Given the description of an element on the screen output the (x, y) to click on. 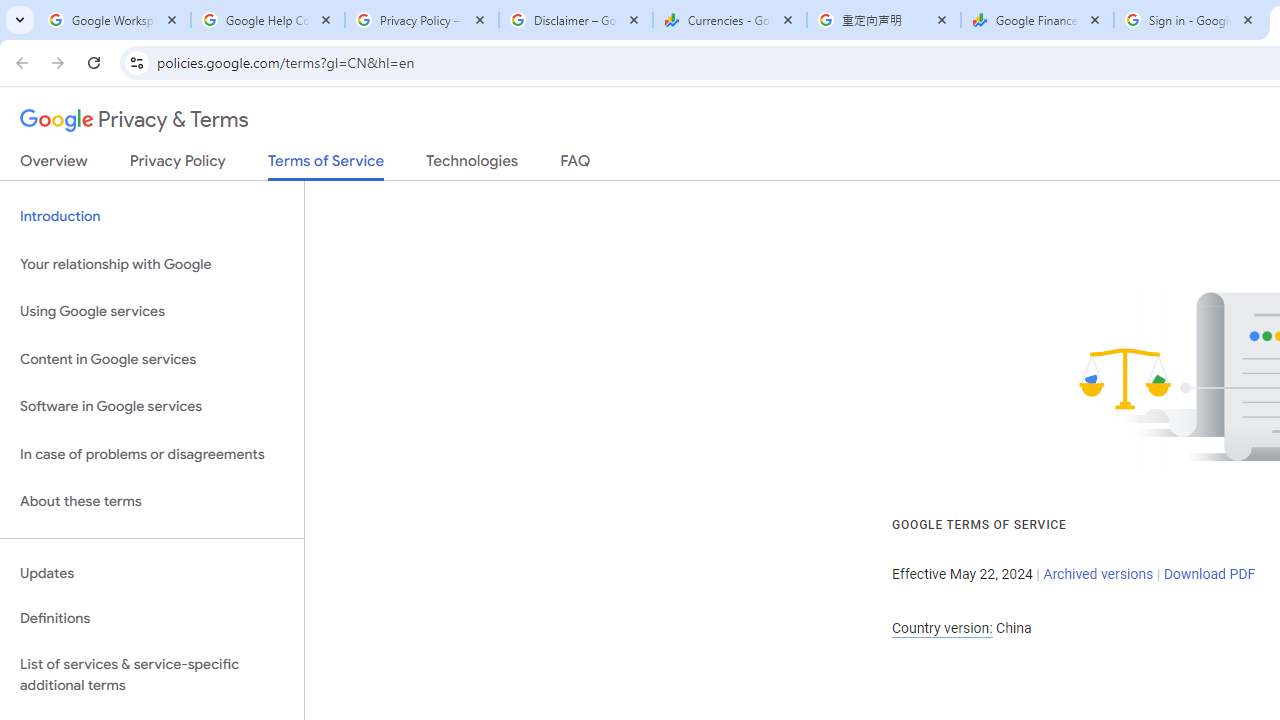
Definitions (152, 619)
List of services & service-specific additional terms (152, 674)
Currencies - Google Finance (729, 20)
Using Google services (152, 312)
Google Workspace Admin Community (113, 20)
Sign in - Google Accounts (1190, 20)
Your relationship with Google (152, 263)
Introduction (152, 216)
Content in Google services (152, 358)
FAQ (575, 165)
Overview (54, 165)
